Given the description of an element on the screen output the (x, y) to click on. 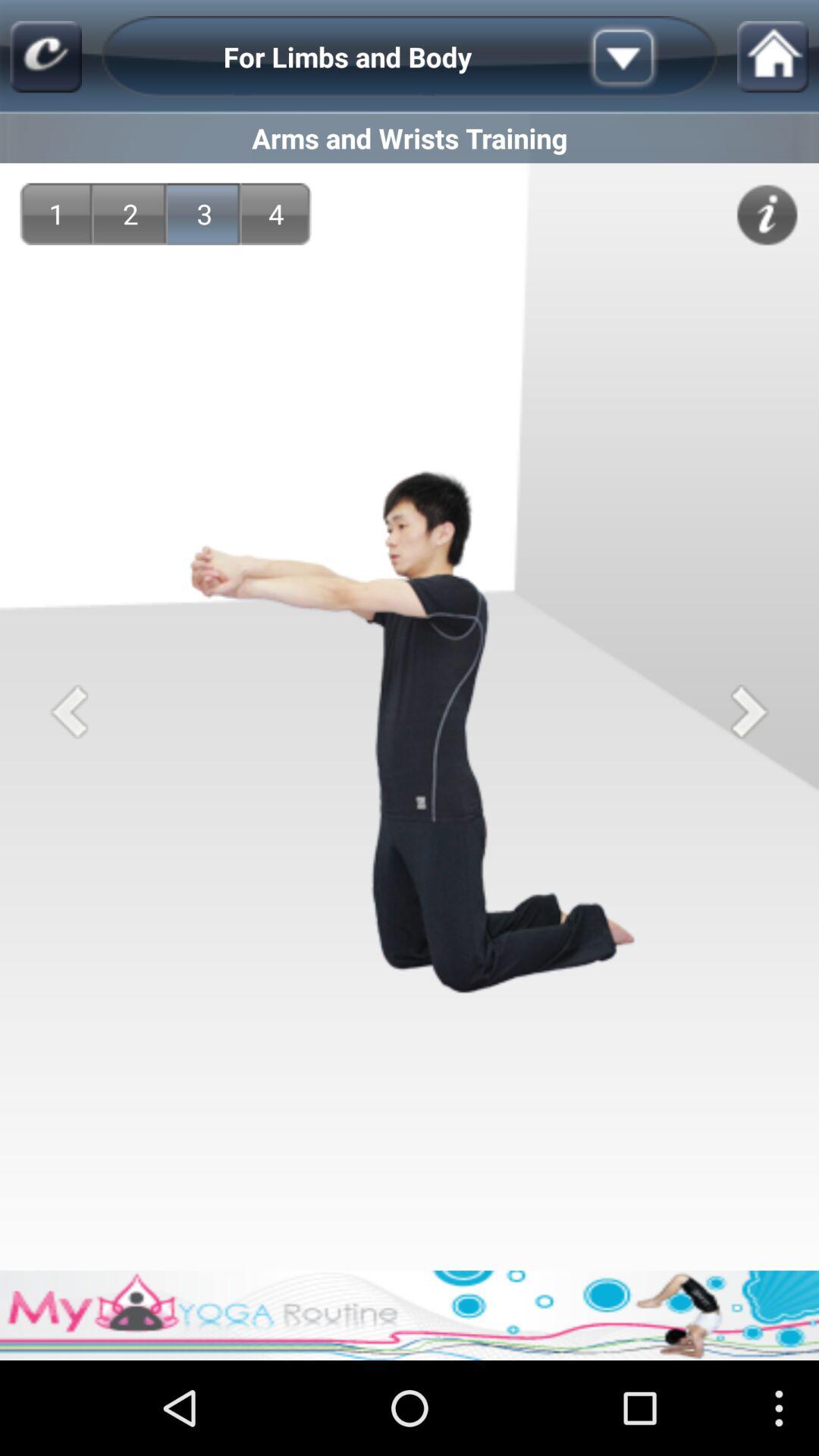
open icon below the arms and wrists app (56, 214)
